Given the description of an element on the screen output the (x, y) to click on. 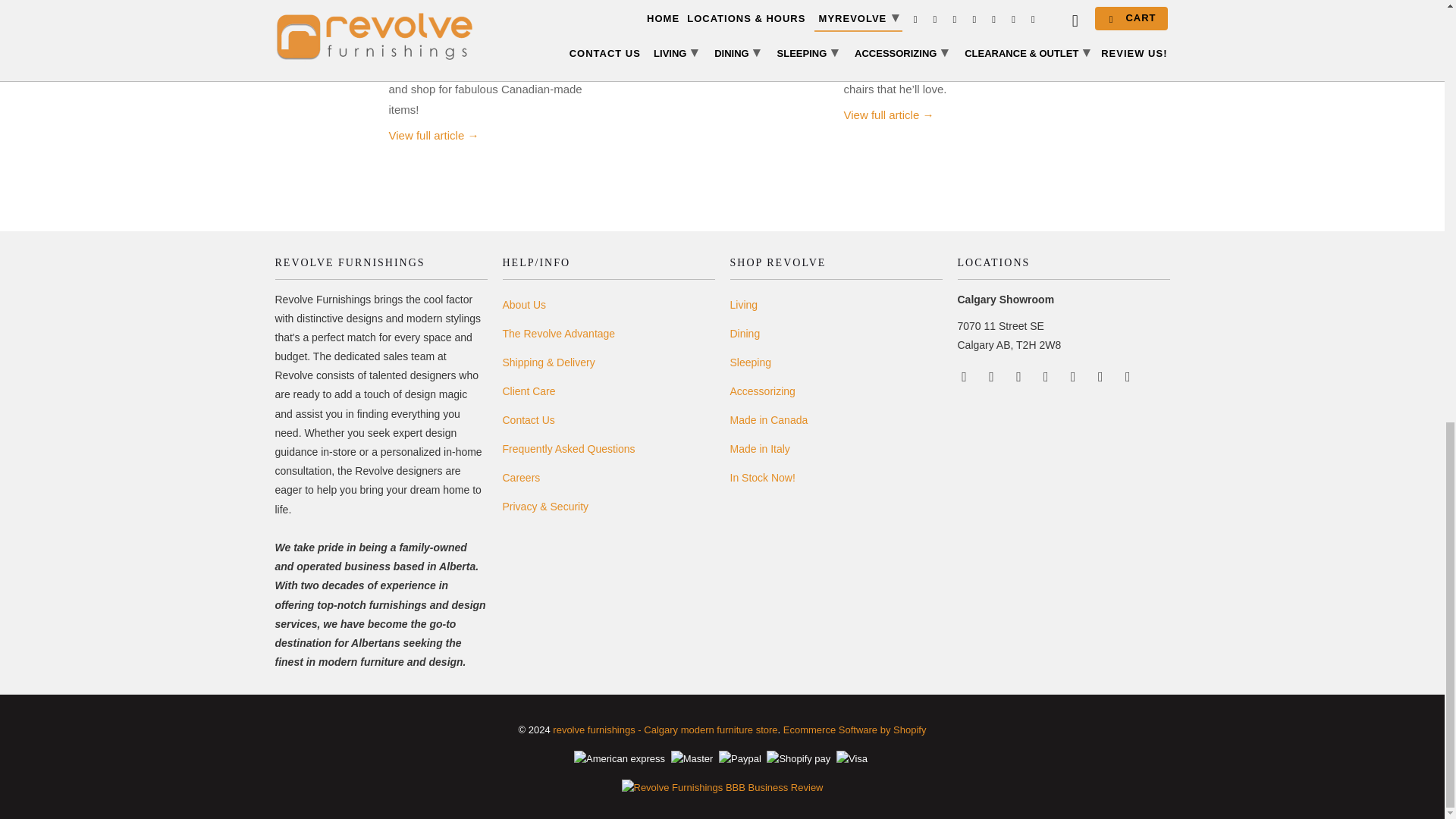
Made in Canada: Modern Canadian Furniture (433, 134)
